Given the description of an element on the screen output the (x, y) to click on. 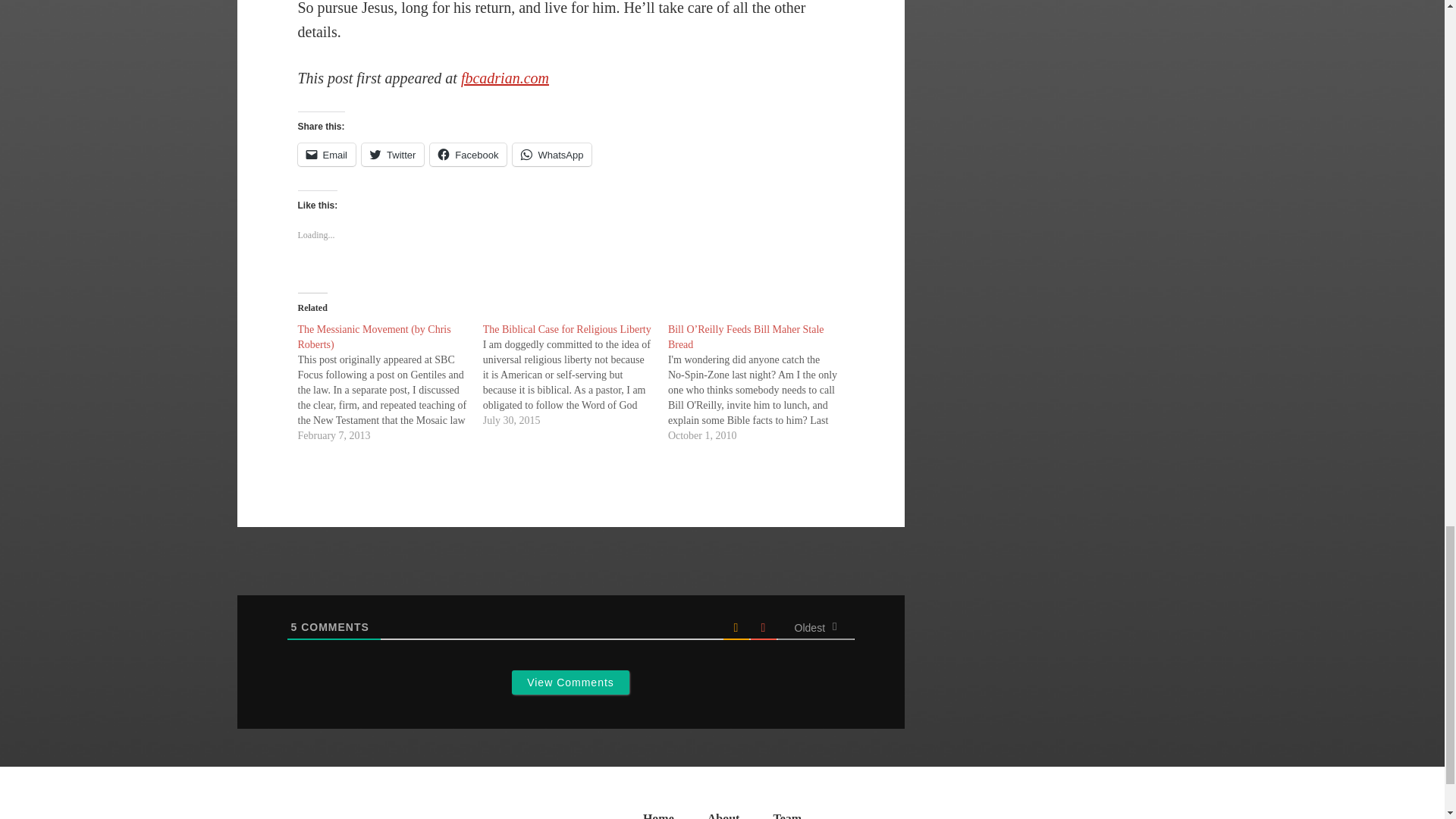
Click to share on Facebook (467, 154)
About (724, 816)
Home (657, 816)
The Biblical Case for Religious Liberty (566, 328)
WhatsApp (551, 154)
The Biblical Case for Religious Liberty (575, 375)
Team (786, 816)
Facebook (467, 154)
fbcadrian.com (504, 77)
Twitter (392, 154)
